Given the description of an element on the screen output the (x, y) to click on. 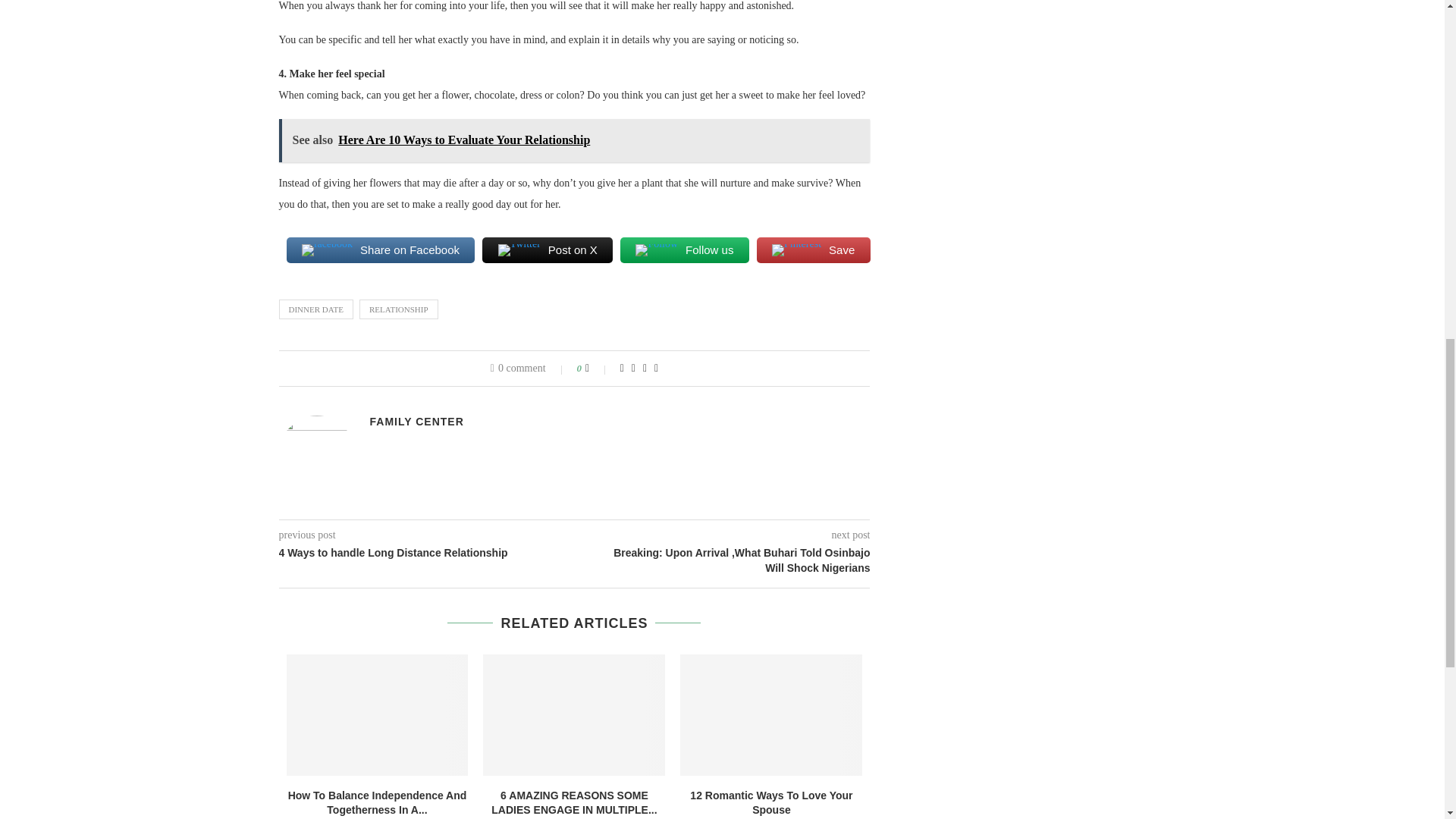
Like (597, 368)
12 Romantic Ways To Love Your Spouse (770, 714)
Author Family Center (416, 421)
